Given the description of an element on the screen output the (x, y) to click on. 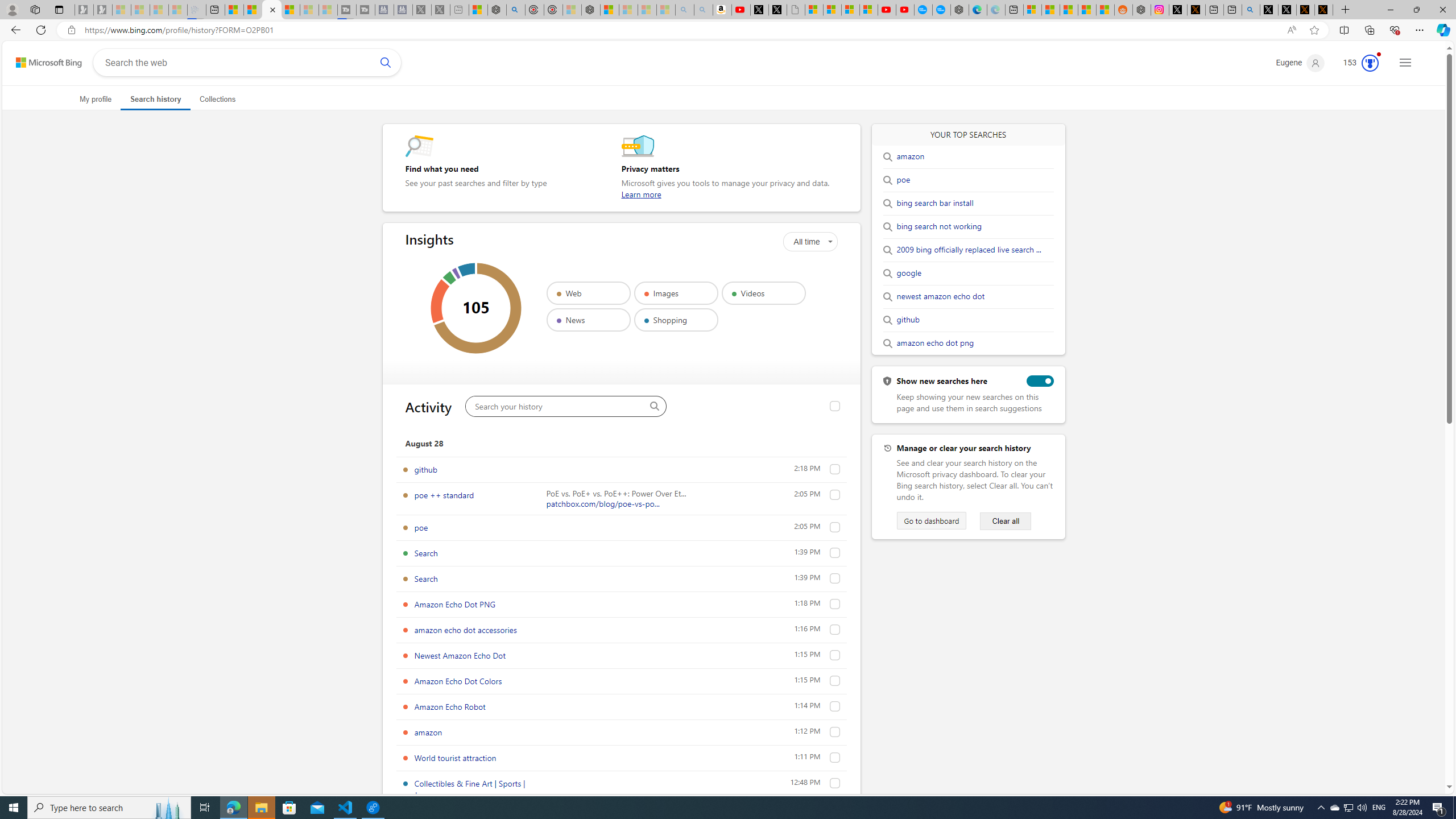
World tourist attraction (454, 757)
Search your history (654, 405)
Images (675, 292)
bing search bar install (935, 203)
Microsoft Rewards 153 (1356, 62)
Learnmore (641, 194)
Amazon Echo Robot (449, 706)
Settings and quick links (1404, 62)
2009 bing officially replaced live search ... (968, 249)
